Given the description of an element on the screen output the (x, y) to click on. 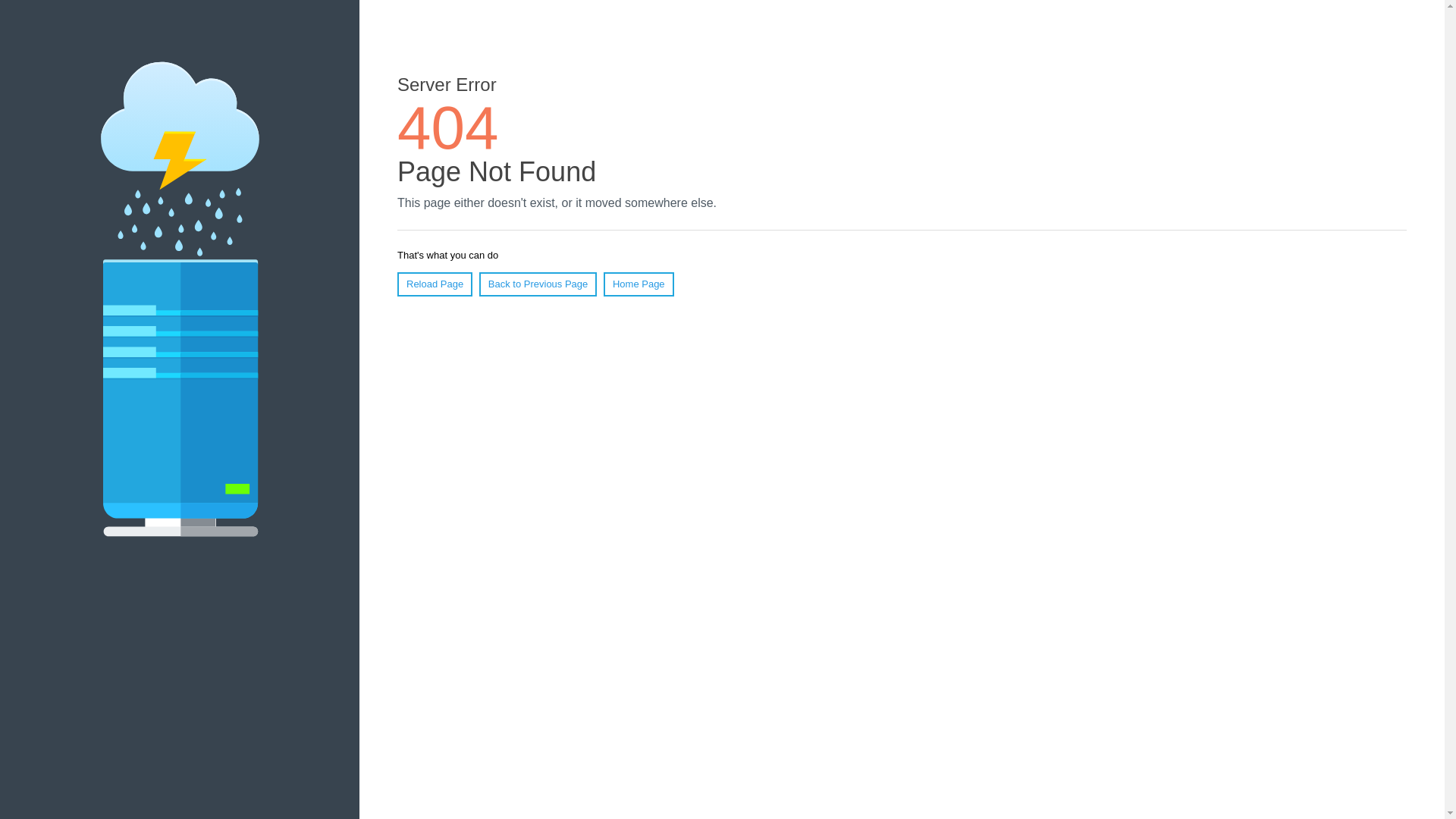
Reload Page Element type: text (434, 284)
Back to Previous Page Element type: text (538, 284)
Home Page Element type: text (638, 284)
